Given the description of an element on the screen output the (x, y) to click on. 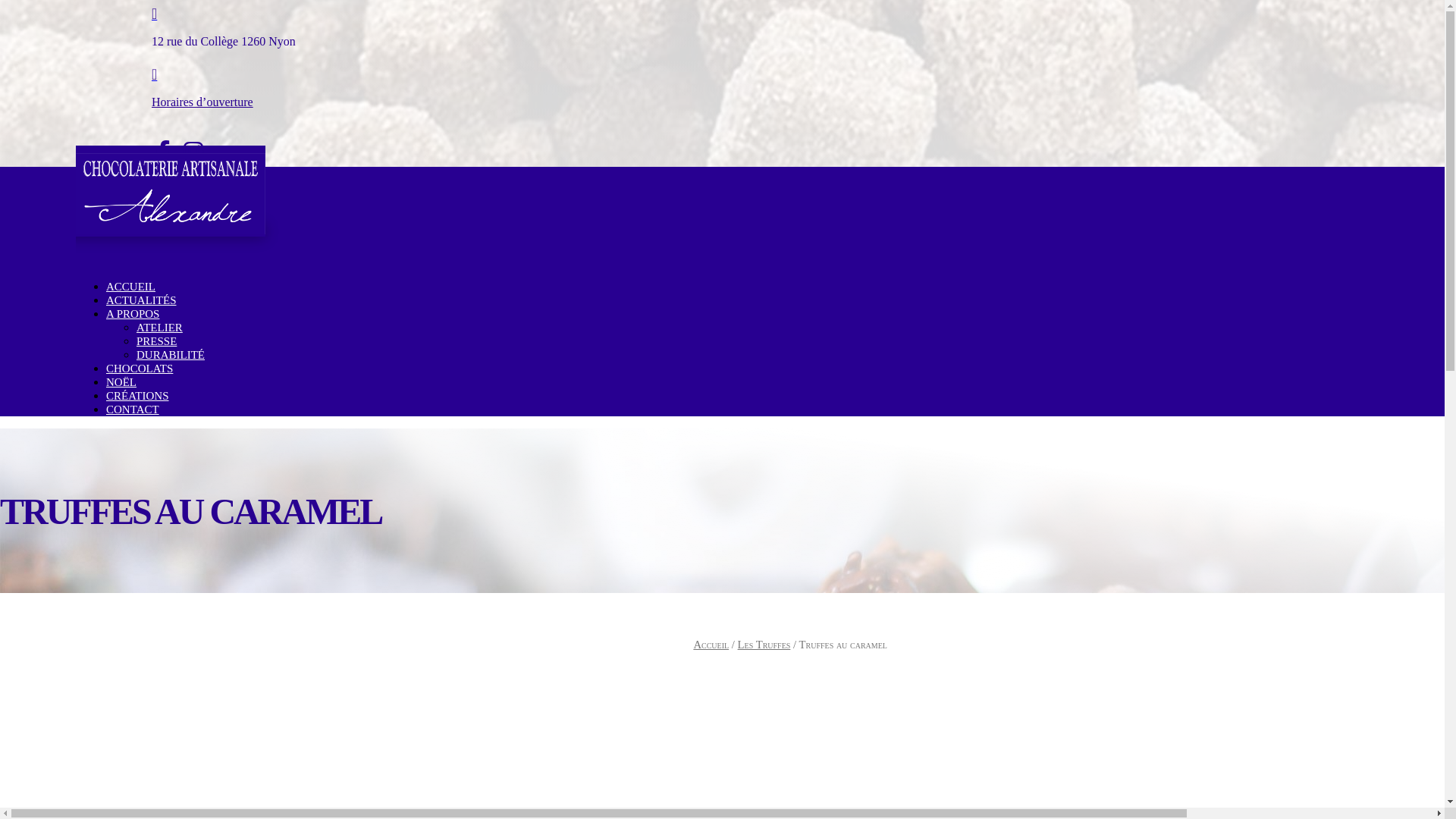
chocolaterie_alexandre_logo300pxV2 Element type: hover (170, 193)
Les Truffes Element type: text (763, 644)
A PROPOS Element type: text (132, 313)
CHOCOLATS Element type: text (139, 368)
CONTACT Element type: text (132, 409)
ATELIER Element type: text (159, 327)
PRESSE Element type: text (156, 341)
Accueil Element type: text (710, 644)
ACCUEIL Element type: text (130, 286)
